Given the description of an element on the screen output the (x, y) to click on. 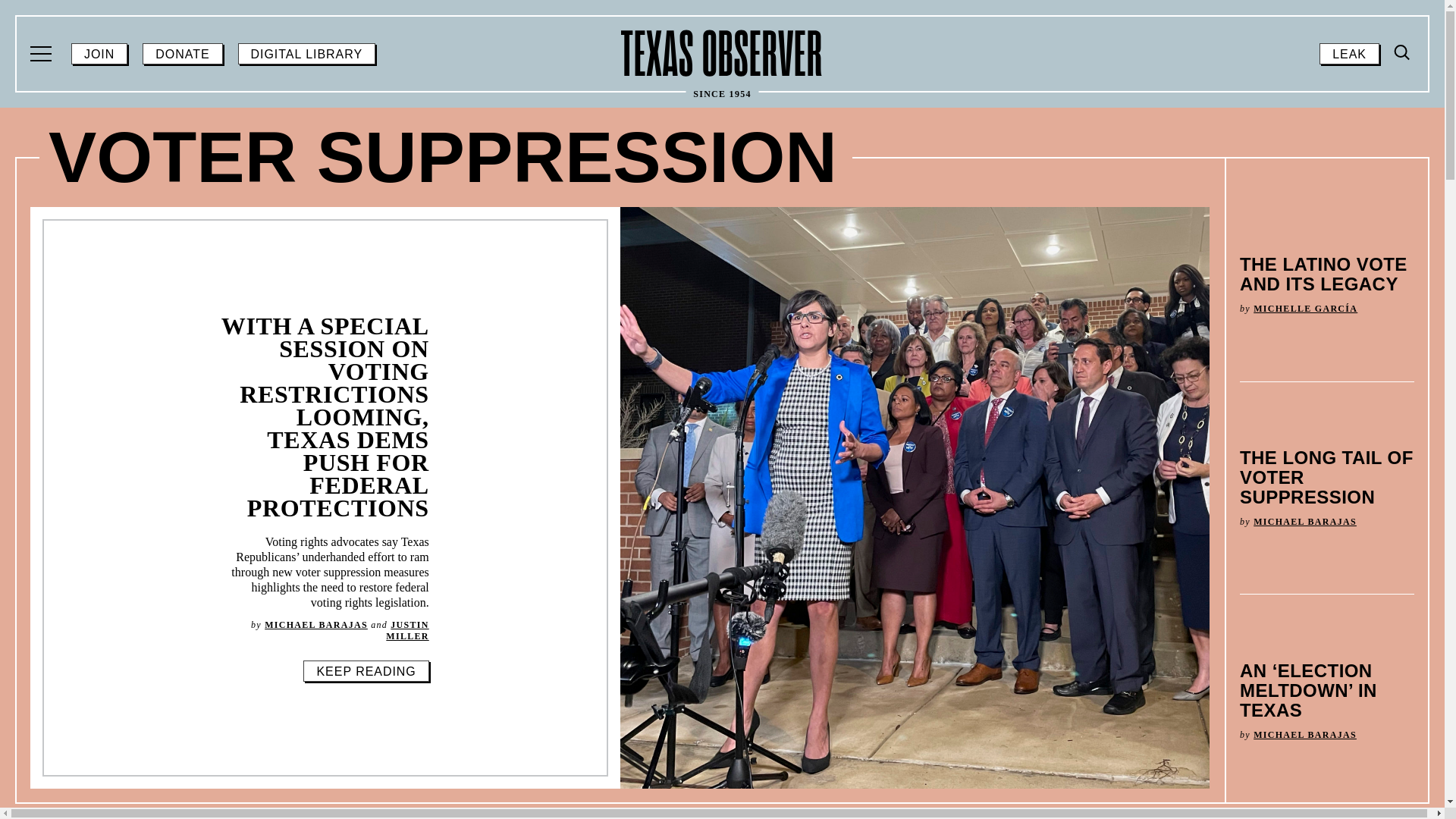
ENVIRONMENT (1037, 217)
ABOUT THE OBSERVER (208, 423)
EXTREMISM (145, 257)
CULTURE (131, 217)
STAFF (559, 423)
POLITICS (1007, 296)
EDUCATION (588, 217)
WORK FOR THE TEXAS OBSERVER (715, 490)
Post by Michael Barajas (316, 624)
JOIN (99, 53)
CRIMINAL JUSTICE (1058, 178)
CIVIL RIGHTS (596, 178)
The Texas Observer (721, 53)
SEARCH (1400, 179)
Post by Michael Barajas (1304, 734)
